Given the description of an element on the screen output the (x, y) to click on. 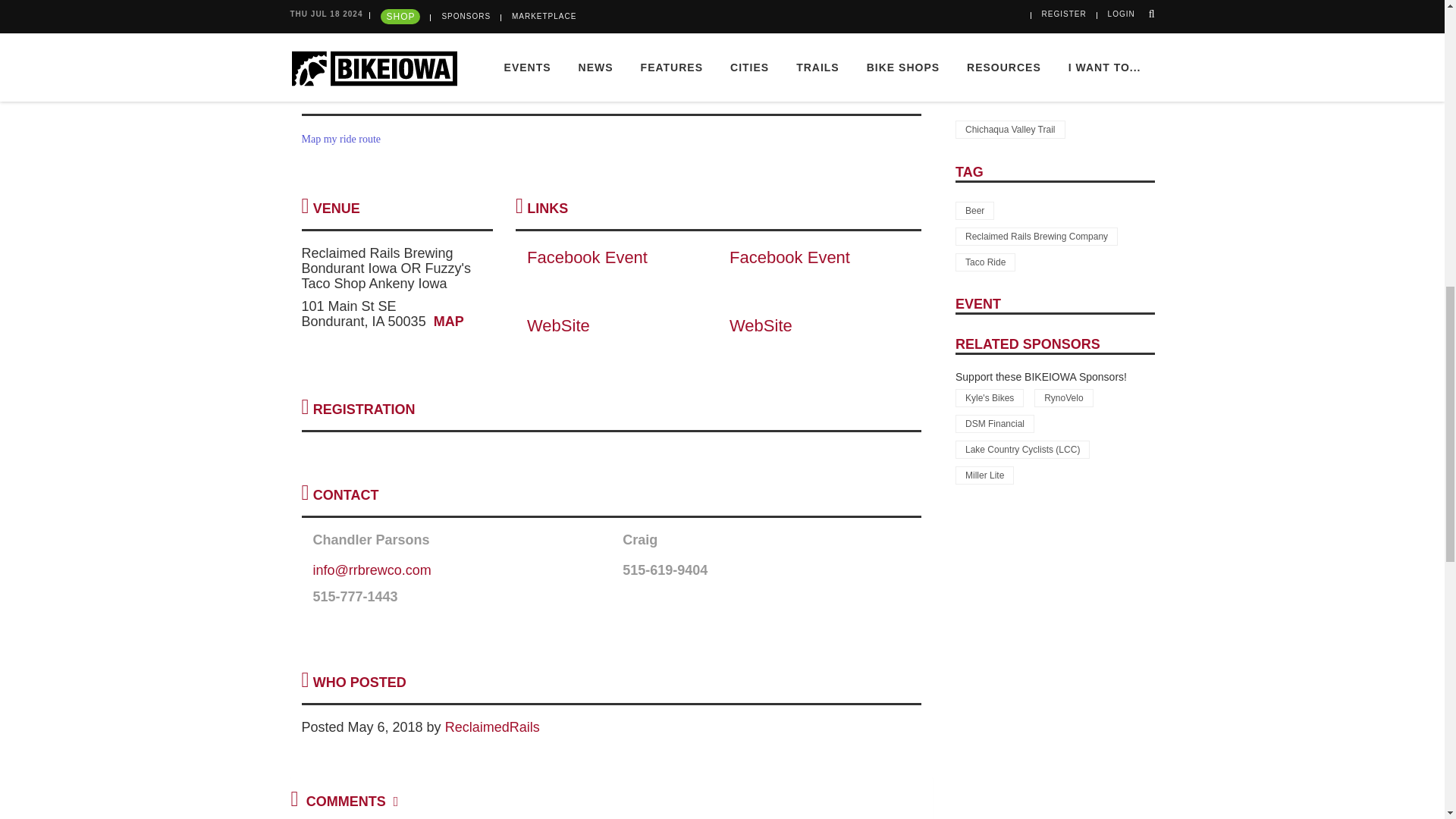
View details about Kyle's Bikes (989, 398)
View details about RynoVelo (1063, 398)
View details about Miller Lite (984, 475)
View details about DSM Financial (994, 423)
